Given the description of an element on the screen output the (x, y) to click on. 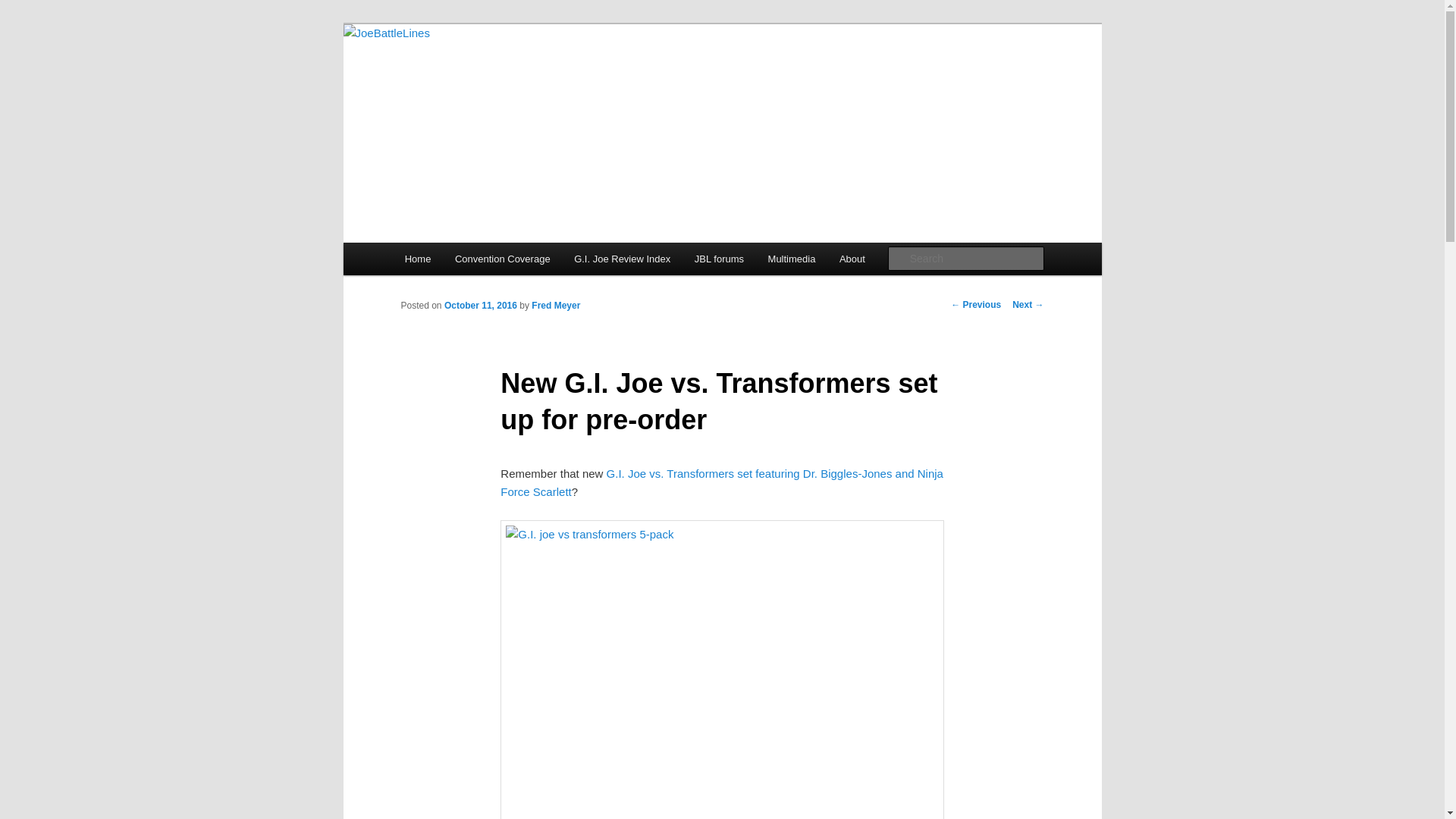
Multimedia (791, 258)
Convention Coverage (502, 258)
Search (24, 8)
View all posts by Fred Meyer (555, 305)
12:41 PM (480, 305)
G.I. Joe Review Index (622, 258)
JBL forums (718, 258)
JoeBattleLines (481, 78)
Home (417, 258)
